Given the description of an element on the screen output the (x, y) to click on. 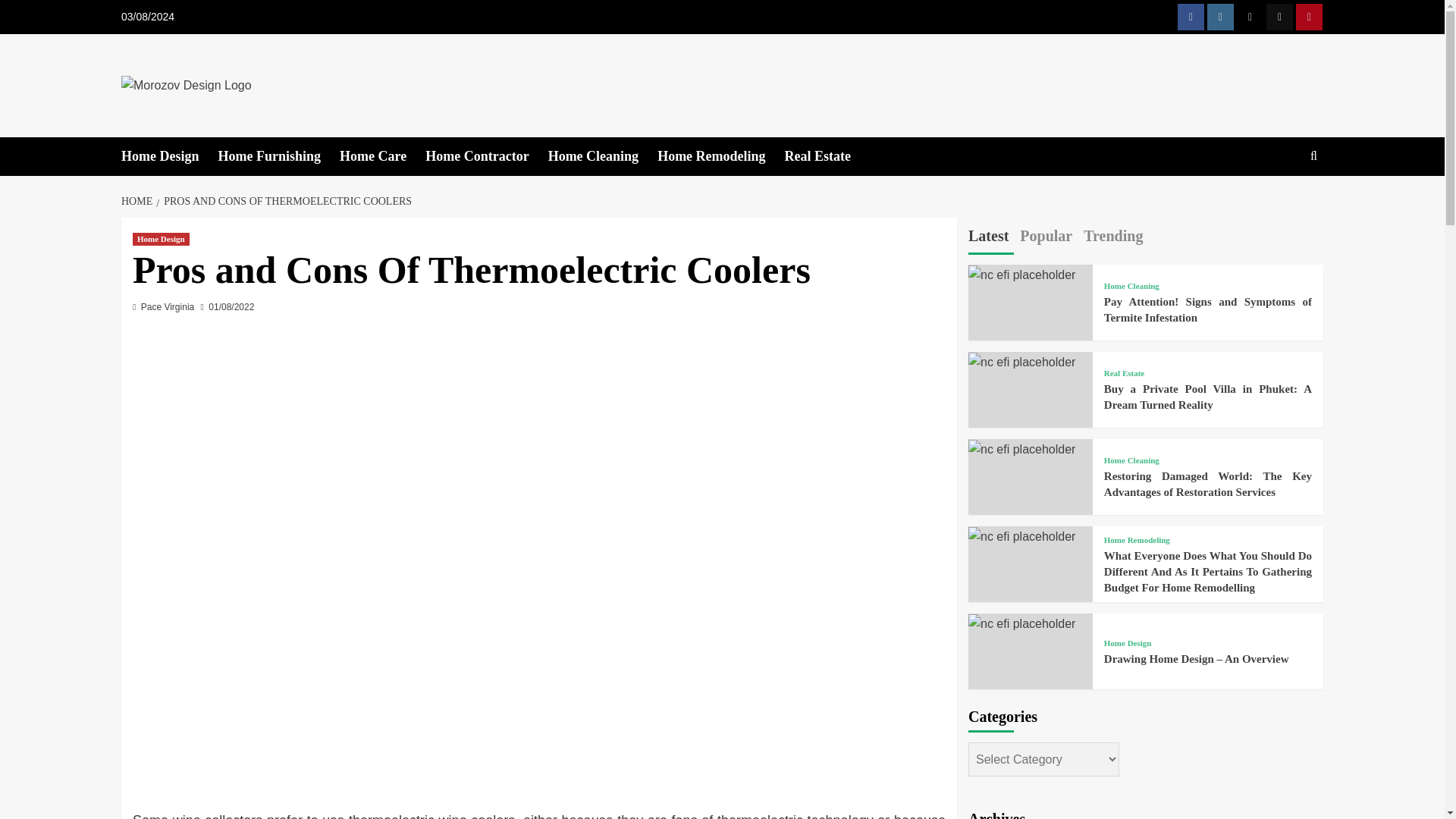
Facebook (1190, 17)
Real Estate (826, 156)
Pace Virginia (168, 307)
Twitter (1249, 17)
Home Design (169, 156)
Pinterest (1308, 17)
PROS AND CONS OF THERMOELECTRIC COOLERS (284, 201)
Home Cleaning (603, 156)
Tiktok (1279, 17)
Buy a Private Pool Villa in Phuket: A Dream Turned Reality (1021, 362)
Home Contractor (486, 156)
Search (1278, 202)
Home Care (382, 156)
